Given the description of an element on the screen output the (x, y) to click on. 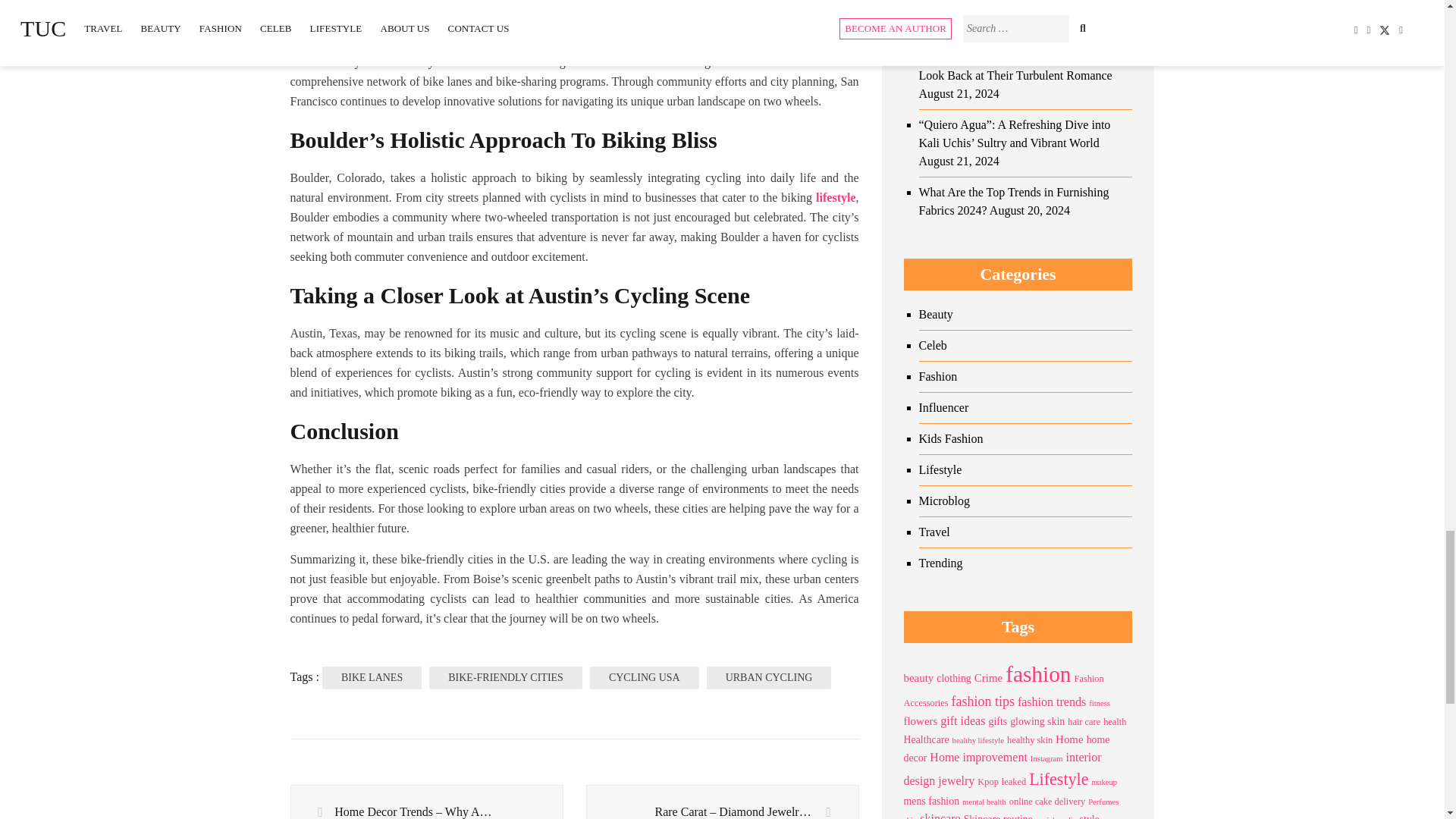
CYCLING USA (643, 677)
Home Decor Trends -  Why Are Photo Tiles Trending? (426, 802)
URBAN CYCLING (768, 677)
lifestyle (835, 196)
BIKE-FRIENDLY CITIES (505, 677)
BIKE LANES (371, 677)
